Given the description of an element on the screen output the (x, y) to click on. 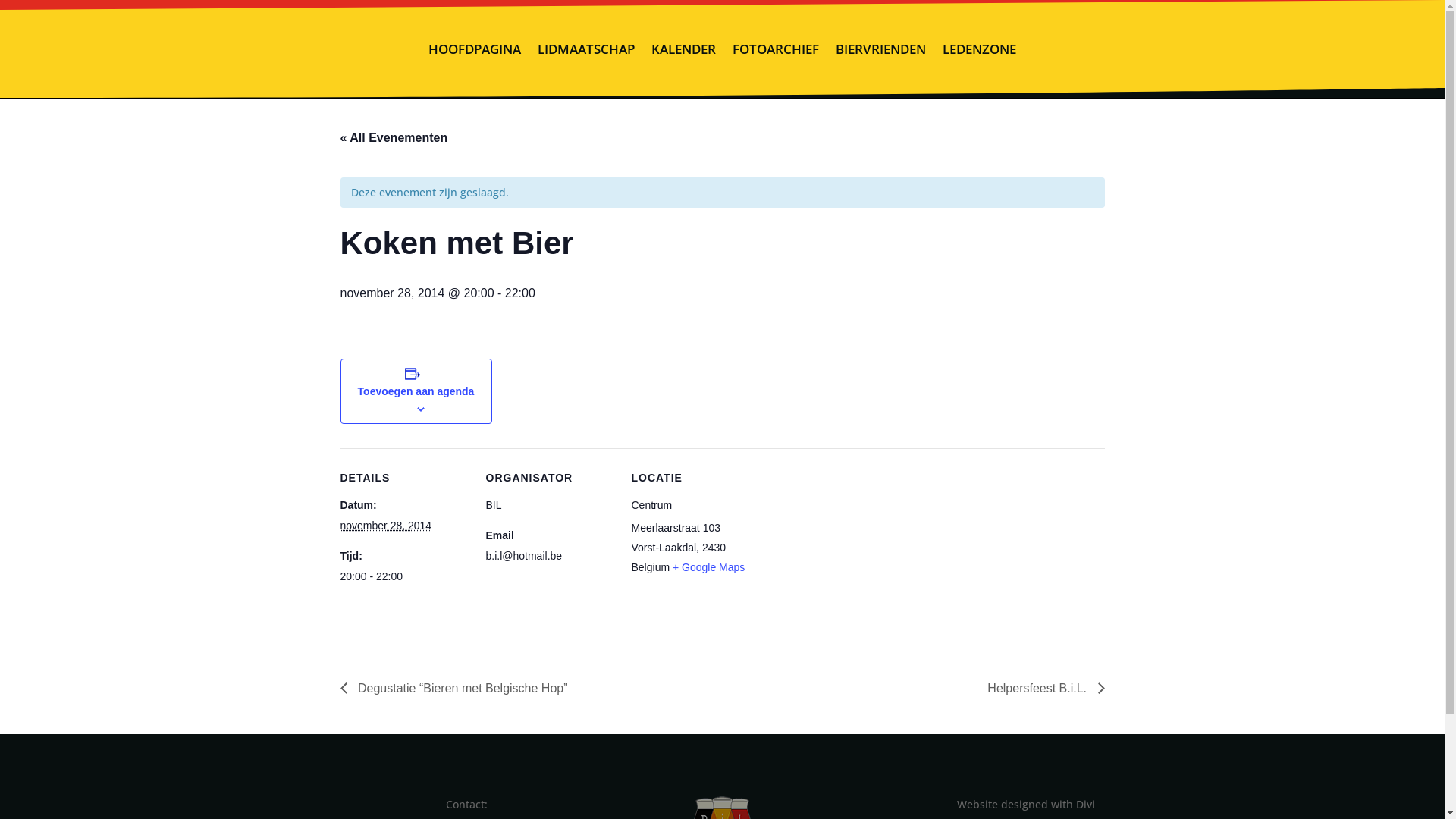
BIERVRIENDEN Element type: text (880, 49)
Toevoegen aan agenda Element type: text (415, 391)
HOOFDPAGINA Element type: text (474, 49)
LIDMAATSCHAP Element type: text (585, 49)
KALENDER Element type: text (683, 49)
FOTOARCHIEF Element type: text (775, 49)
LEDENZONE Element type: text (979, 49)
+ Google Maps Element type: text (708, 567)
Google maps iframe displaying the address to Centrum Element type: hover (856, 552)
Helpersfeest B.i.L. Element type: text (1041, 687)
